Given the description of an element on the screen output the (x, y) to click on. 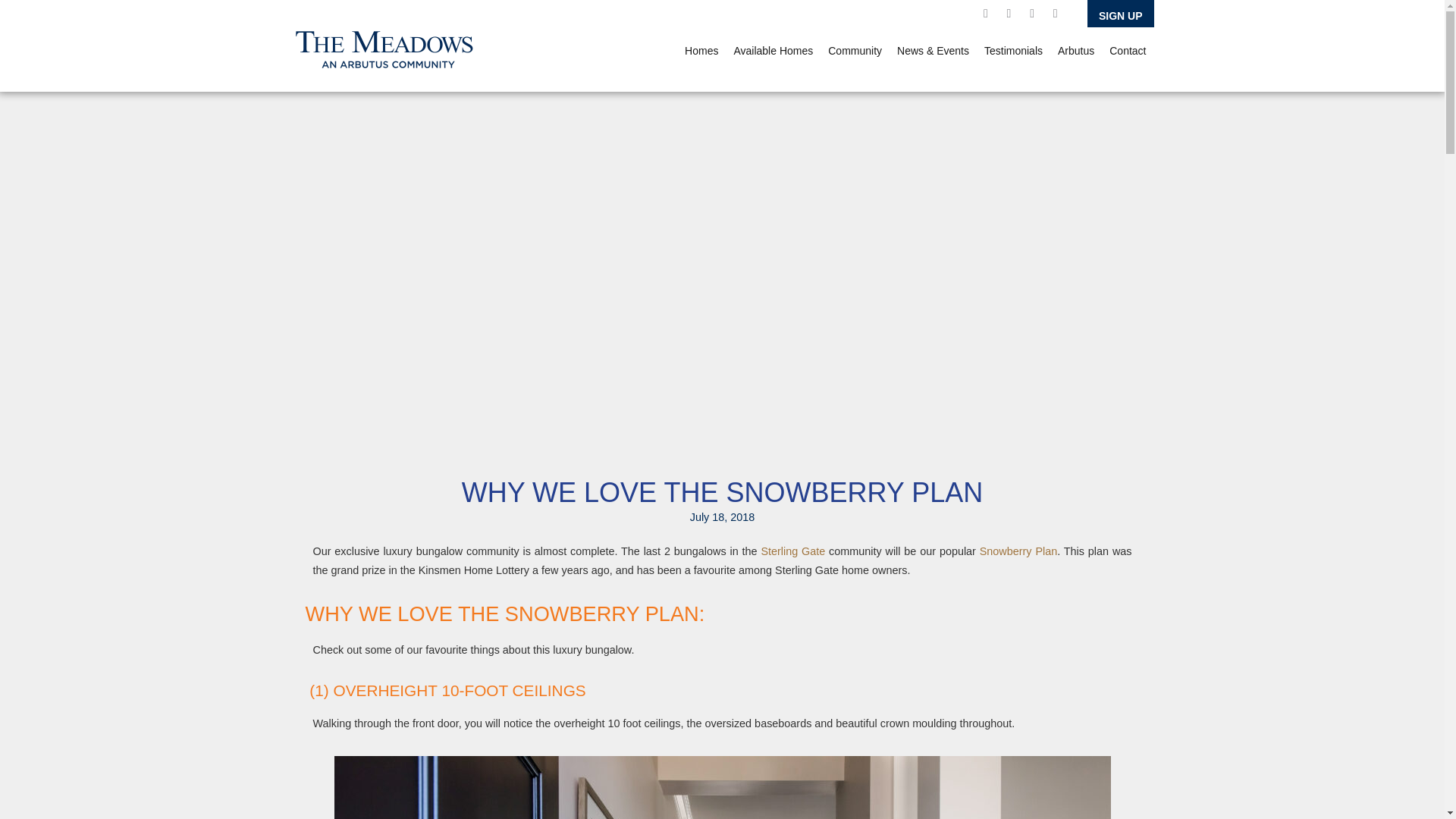
Available Homes (773, 50)
Available Homes (773, 50)
SIGN UP (1120, 13)
Community (855, 50)
Homes (701, 50)
Contact (1127, 50)
Community (855, 50)
Arbutus (1075, 50)
Testimonials (1012, 50)
Homes (701, 50)
